Given the description of an element on the screen output the (x, y) to click on. 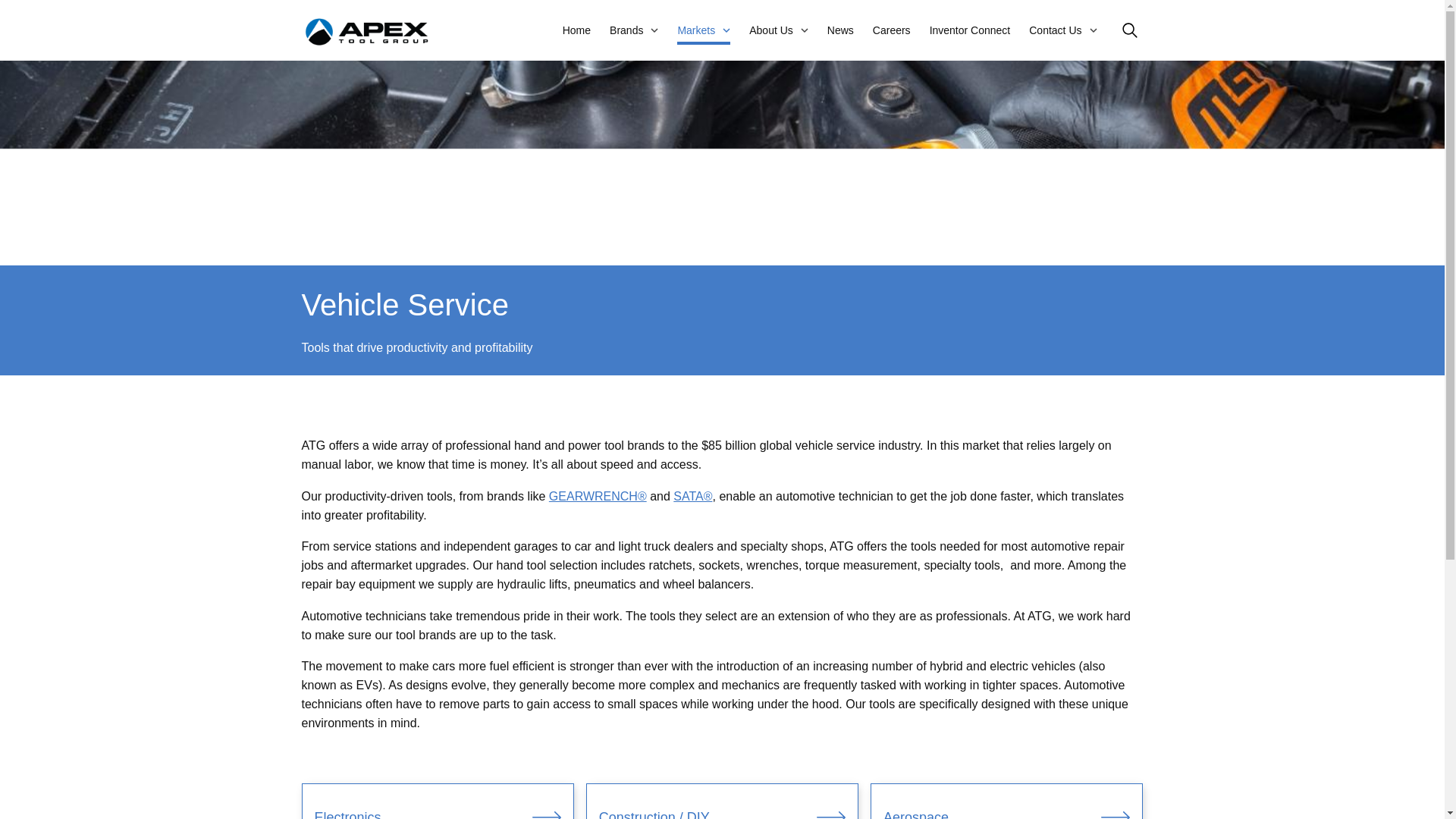
Home (576, 29)
Brands (626, 29)
Markets (695, 29)
